Given the description of an element on the screen output the (x, y) to click on. 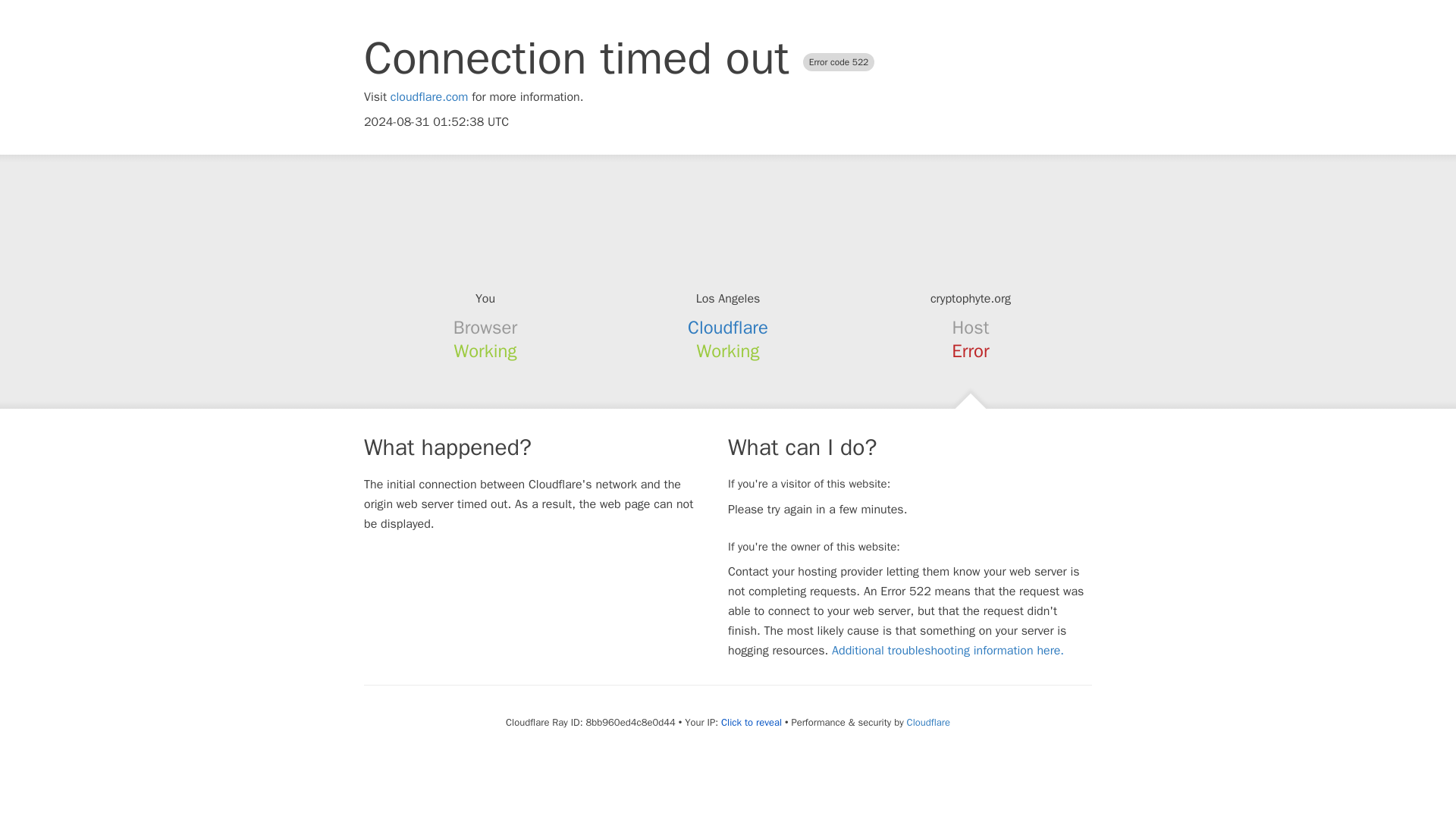
Cloudflare (928, 721)
cloudflare.com (429, 96)
Additional troubleshooting information here. (947, 650)
Click to reveal (750, 722)
Cloudflare (727, 327)
